Given the description of an element on the screen output the (x, y) to click on. 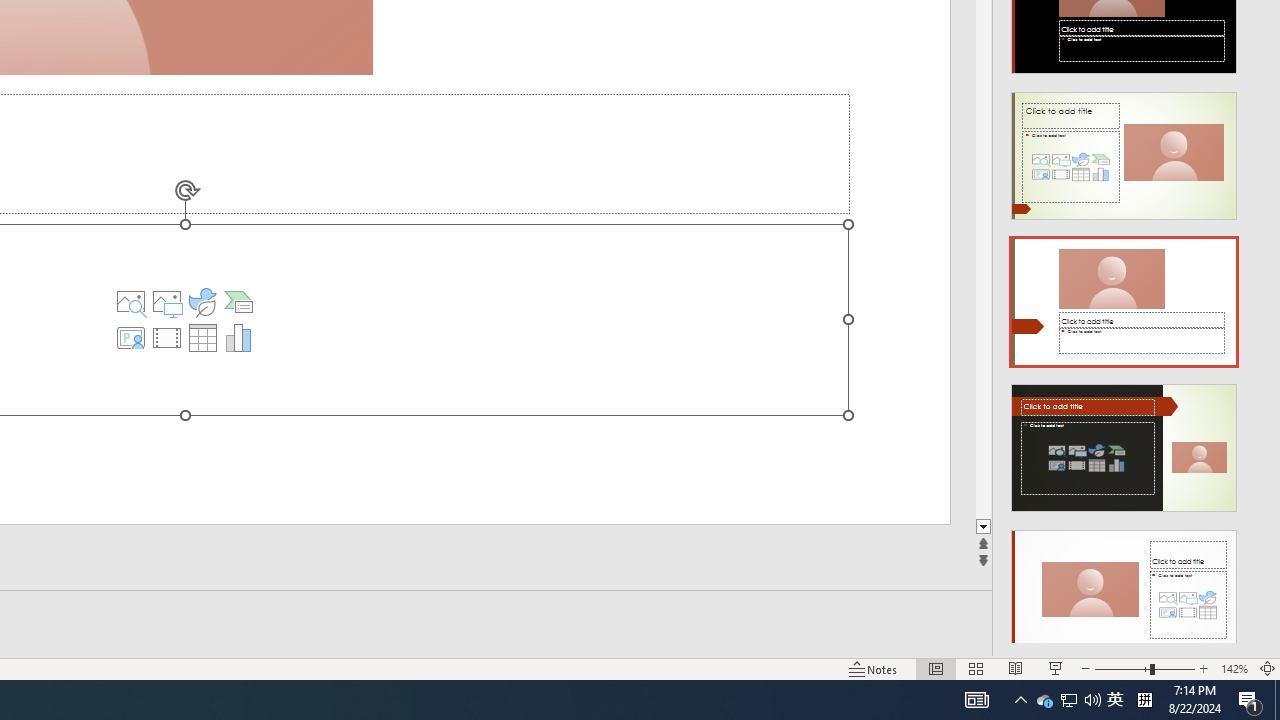
Zoom 142% (1234, 668)
